Given the description of an element on the screen output the (x, y) to click on. 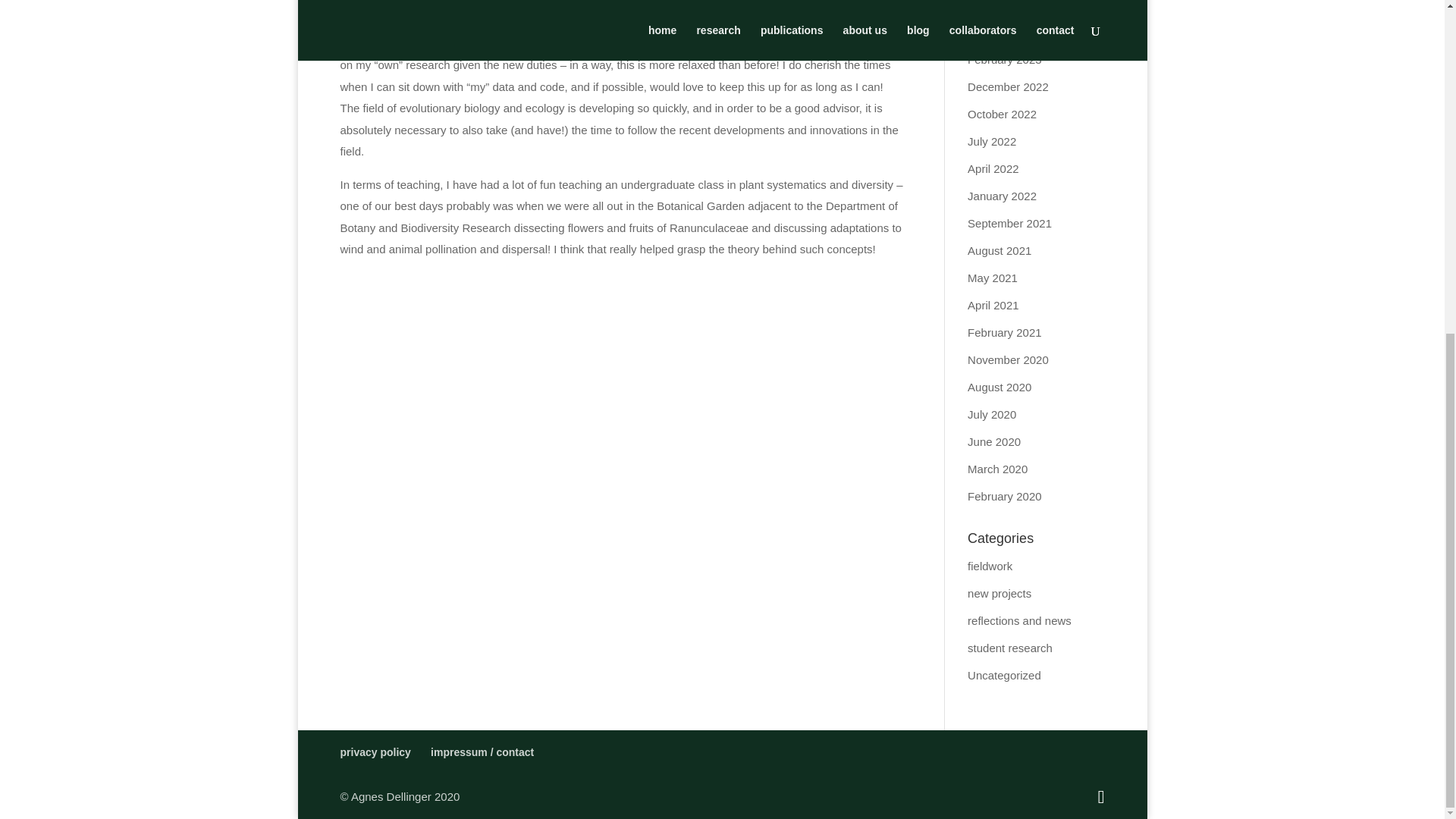
April 2021 (993, 305)
February 2023 (1005, 59)
December 2022 (1008, 86)
November 2020 (1008, 359)
May 2021 (992, 277)
February 2021 (1005, 332)
April 2022 (993, 168)
June 2023 (994, 31)
July 2022 (992, 141)
July 2023 (992, 5)
October 2022 (1002, 113)
September 2021 (1009, 223)
January 2022 (1002, 195)
August 2020 (999, 386)
August 2021 (999, 250)
